Given the description of an element on the screen output the (x, y) to click on. 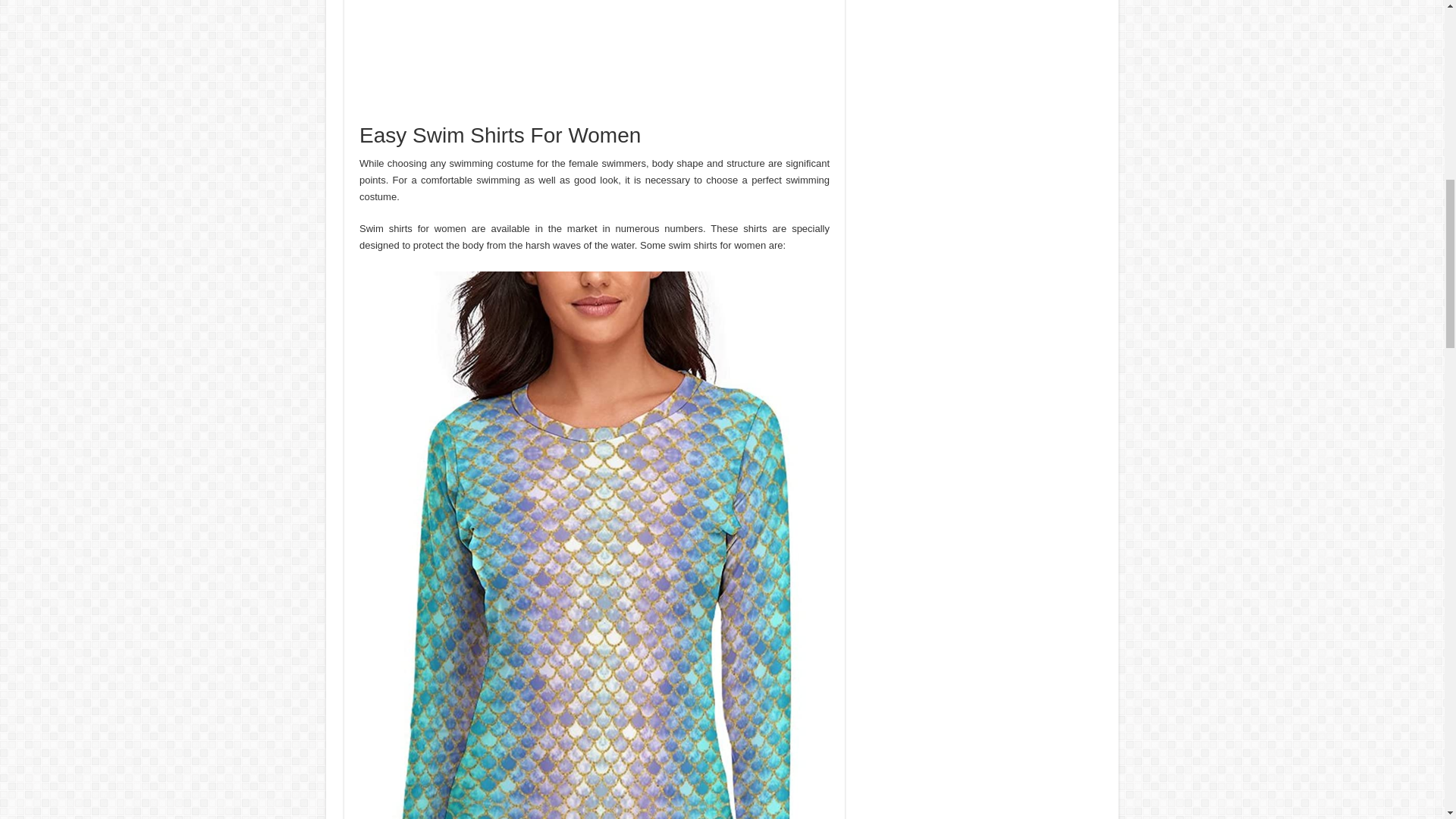
Advertisement (594, 61)
